Given the description of an element on the screen output the (x, y) to click on. 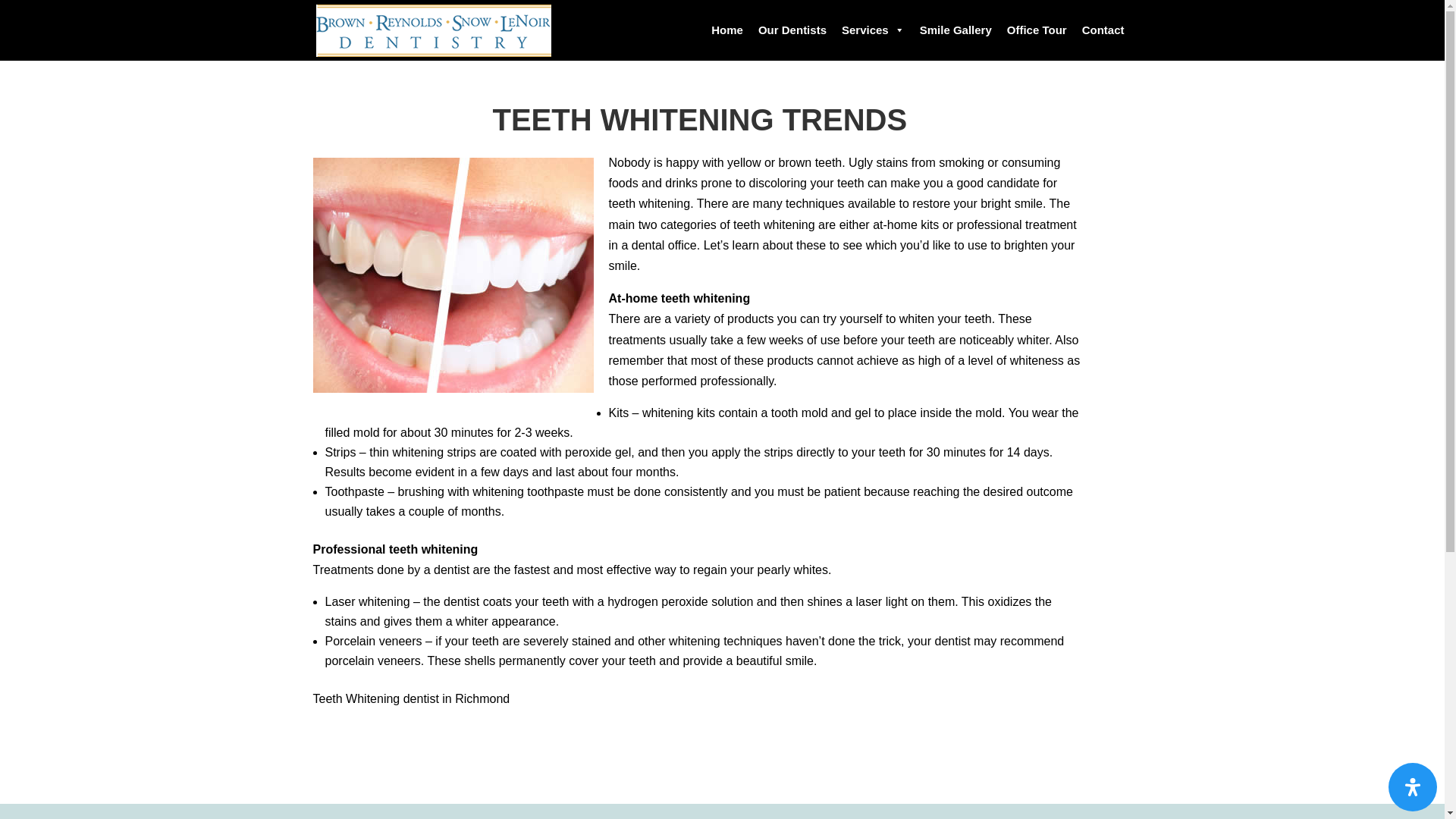
Smile Gallery (955, 30)
Home (727, 30)
Our Dentists (792, 30)
Services (873, 30)
